Given the description of an element on the screen output the (x, y) to click on. 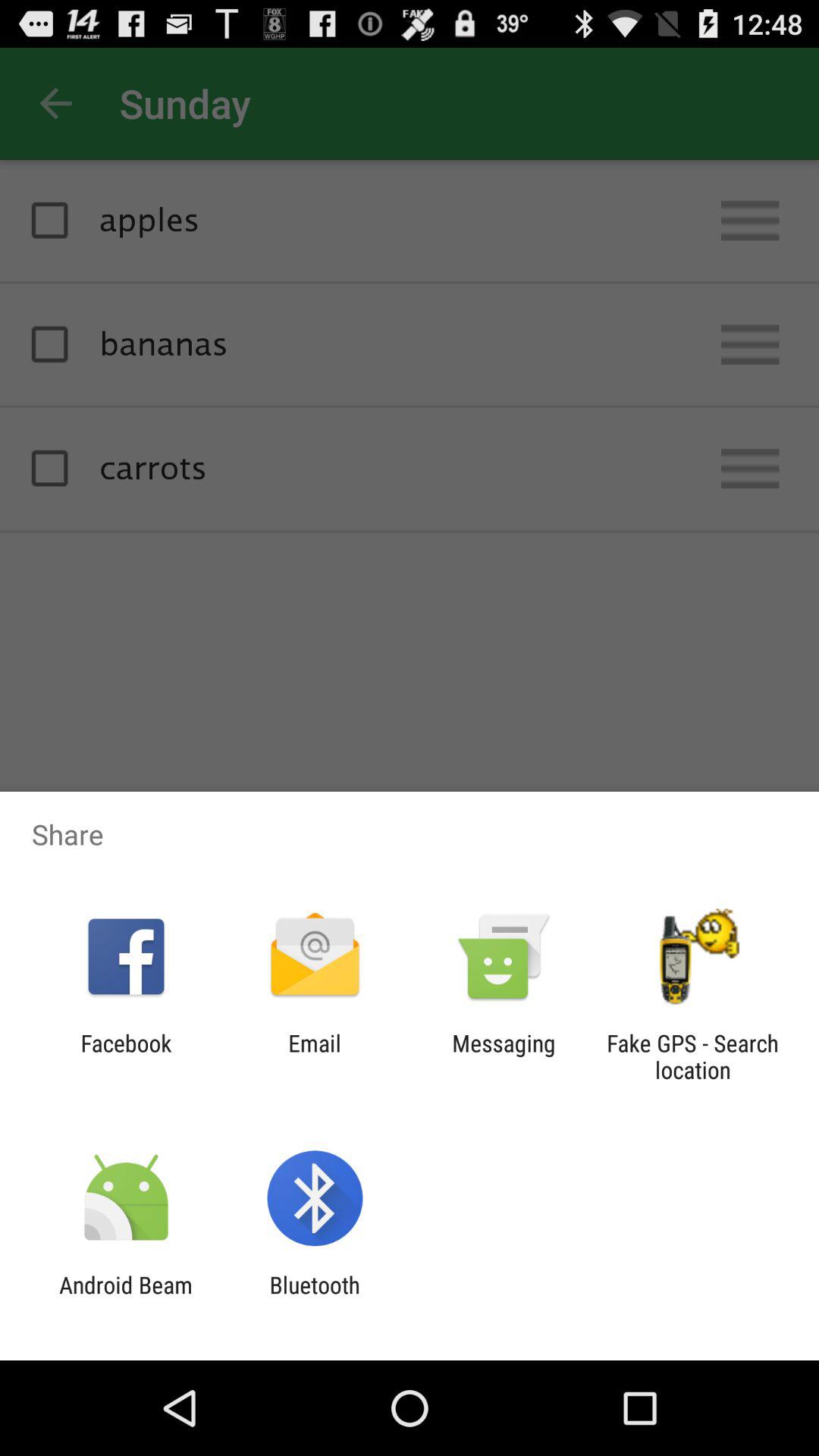
turn off the icon next to the facebook app (314, 1056)
